Given the description of an element on the screen output the (x, y) to click on. 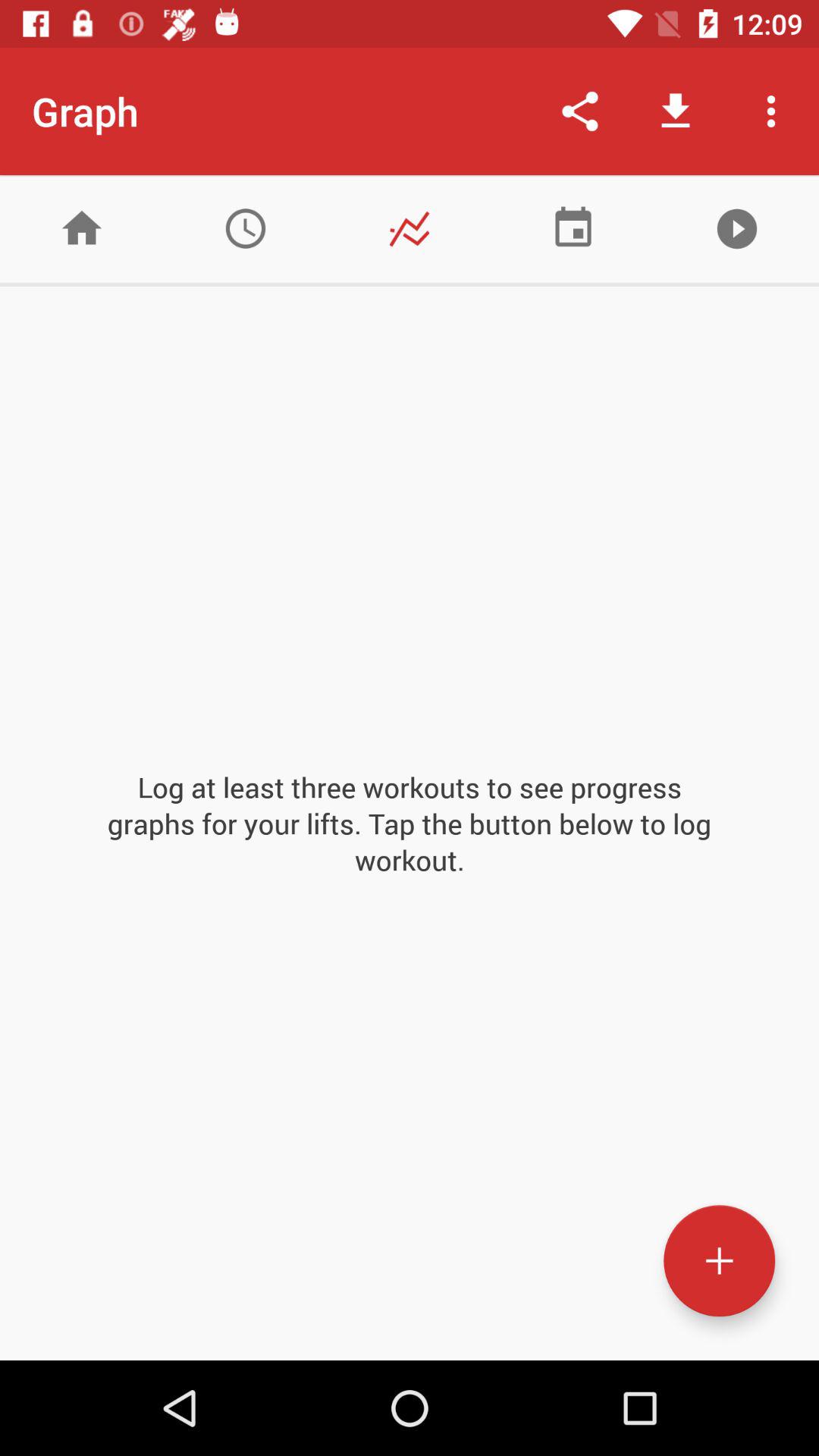
show history (245, 228)
